Given the description of an element on the screen output the (x, y) to click on. 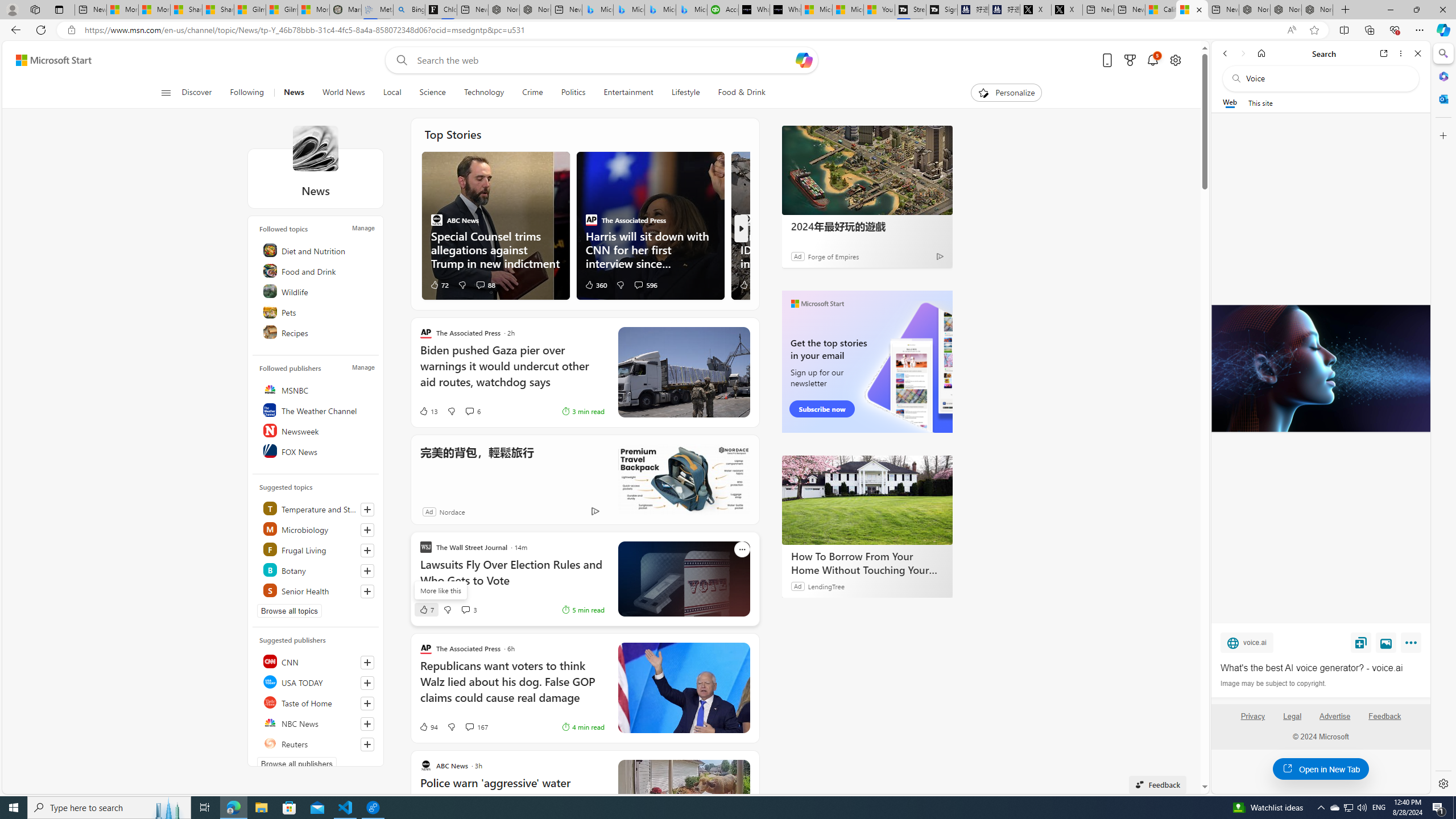
94 Like (427, 726)
Side bar (1443, 418)
Image may be subject to copyright. (1273, 682)
Microsoft 365 (1442, 76)
View comments 6 Comment (472, 410)
